Given the description of an element on the screen output the (x, y) to click on. 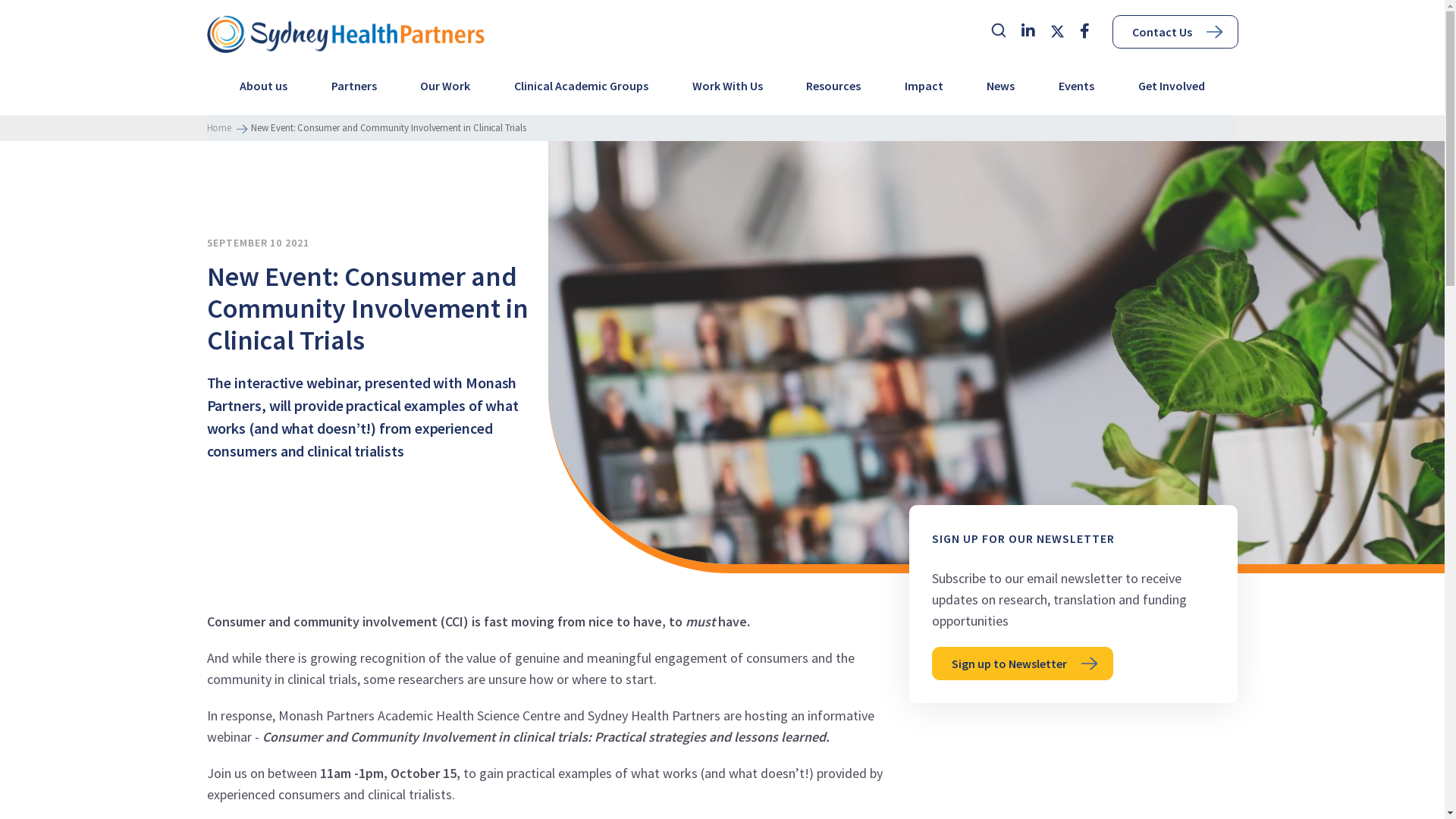
Our Work Element type: text (445, 91)
Linkedin
(link opens in a new window) Element type: text (1027, 31)
Facebook
(link opens in a new window) Element type: text (1084, 31)
News Element type: text (1000, 91)
Sign up to Newsletter
(link opens in a new window) Element type: text (1022, 663)
Clinical Academic Groups Element type: text (581, 91)
Impact Element type: text (923, 91)
Get Involved Element type: text (1171, 91)
Search Element type: text (997, 29)
Events Element type: text (1076, 91)
Home Element type: text (218, 127)
Partners Element type: text (353, 91)
About us Element type: text (263, 91)
Contact Us Element type: text (1174, 31)
Work With Us Element type: text (727, 91)
Twitter
(link opens in a new window) Element type: text (1056, 29)
Resources Element type: text (833, 91)
